Given the description of an element on the screen output the (x, y) to click on. 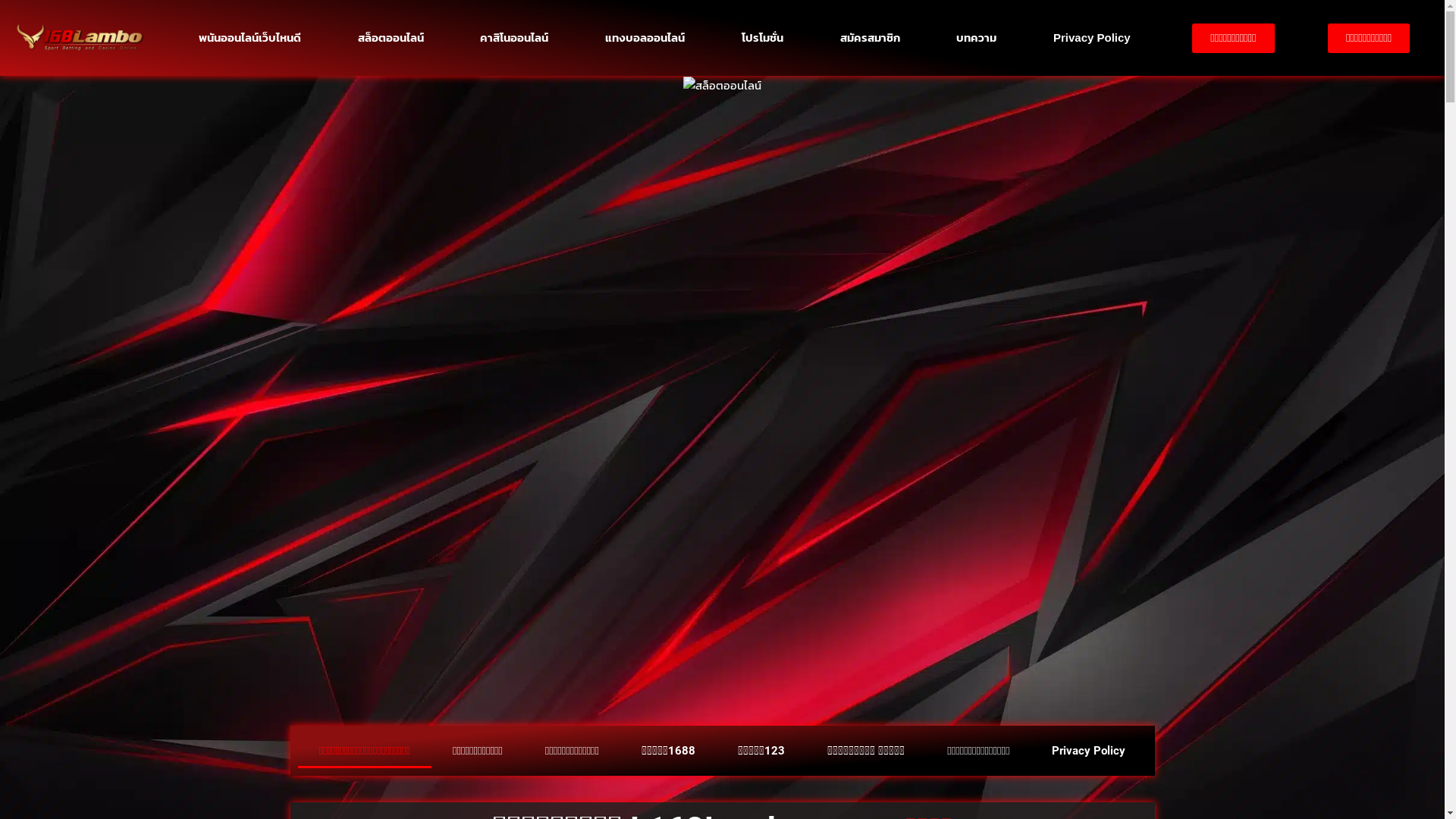
Privacy Policy Element type: text (1091, 37)
Privacy Policy Element type: text (1088, 750)
